Given the description of an element on the screen output the (x, y) to click on. 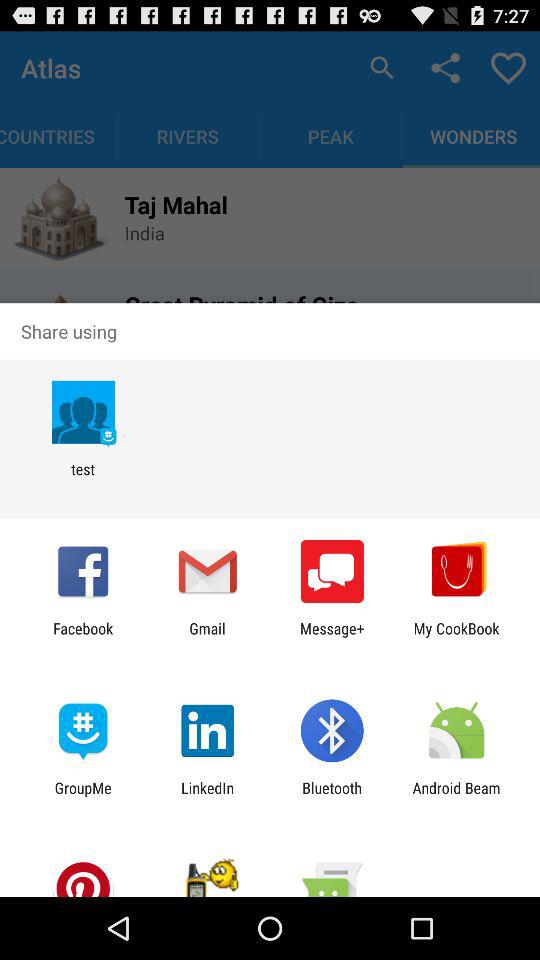
swipe to the android beam icon (456, 796)
